Given the description of an element on the screen output the (x, y) to click on. 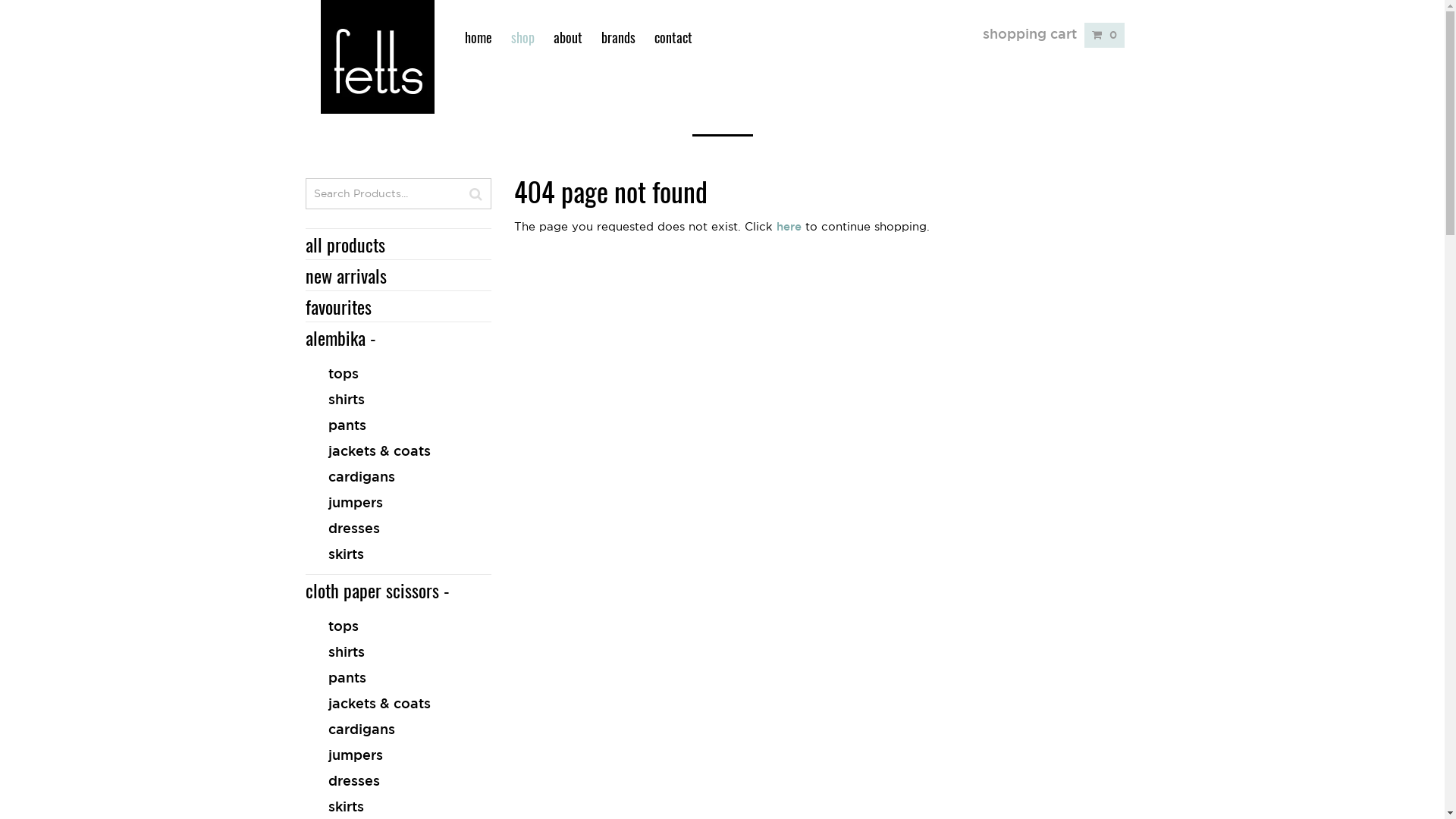
home Element type: text (477, 36)
tops Element type: text (397, 625)
shop Element type: text (522, 36)
jumpers Element type: text (397, 754)
shirts Element type: text (397, 651)
shopping cart 0 Element type: text (1053, 32)
jackets & coats Element type: text (397, 450)
about Element type: text (567, 36)
all products Element type: text (397, 244)
favourites Element type: text (397, 306)
tops Element type: text (397, 372)
here Element type: text (788, 225)
cloth paper scissors - Element type: text (376, 589)
pants Element type: text (397, 677)
pants Element type: text (397, 424)
skirts Element type: text (397, 553)
dresses Element type: text (397, 780)
cardigans Element type: text (397, 728)
contact Element type: text (672, 36)
jackets & coats Element type: text (397, 702)
brands Element type: text (617, 36)
cardigans Element type: text (397, 476)
shirts Element type: text (397, 398)
dresses Element type: text (397, 527)
jumpers Element type: text (397, 501)
alembika - Element type: text (339, 337)
new arrivals Element type: text (397, 275)
